Given the description of an element on the screen output the (x, y) to click on. 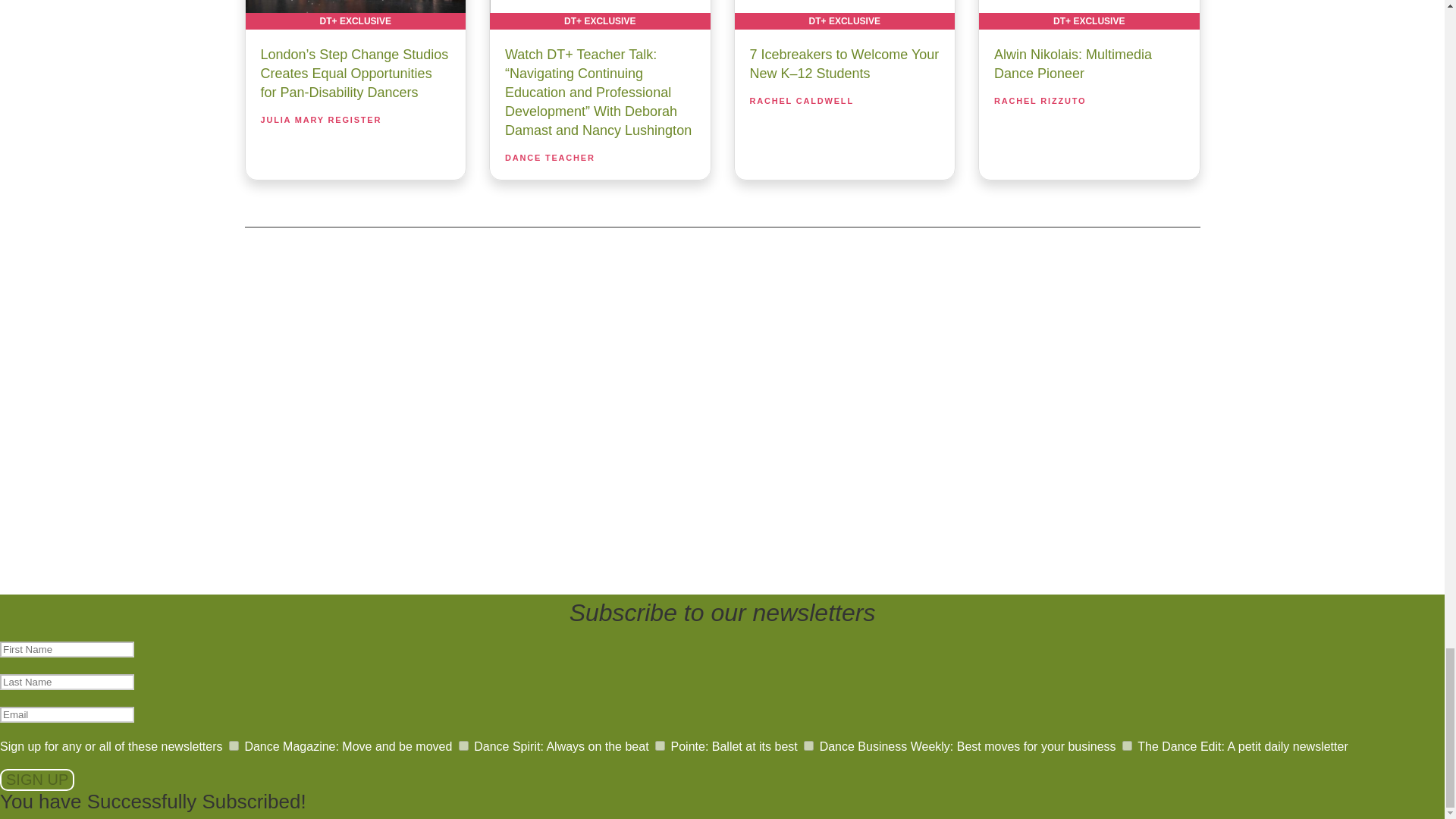
The Dance Edit: A petit daily newsletter (1127, 746)
Pointe: Ballet at its best (660, 746)
Alwin Nikolais: Multimedia Dance Pioneer (1088, 14)
Dance Magazine: Move and be moved (233, 746)
Dance Spirit: Always on the beat (463, 746)
Dance Business Weekly: Best moves for your business (808, 746)
Follow on Facebook (645, 394)
